Given the description of an element on the screen output the (x, y) to click on. 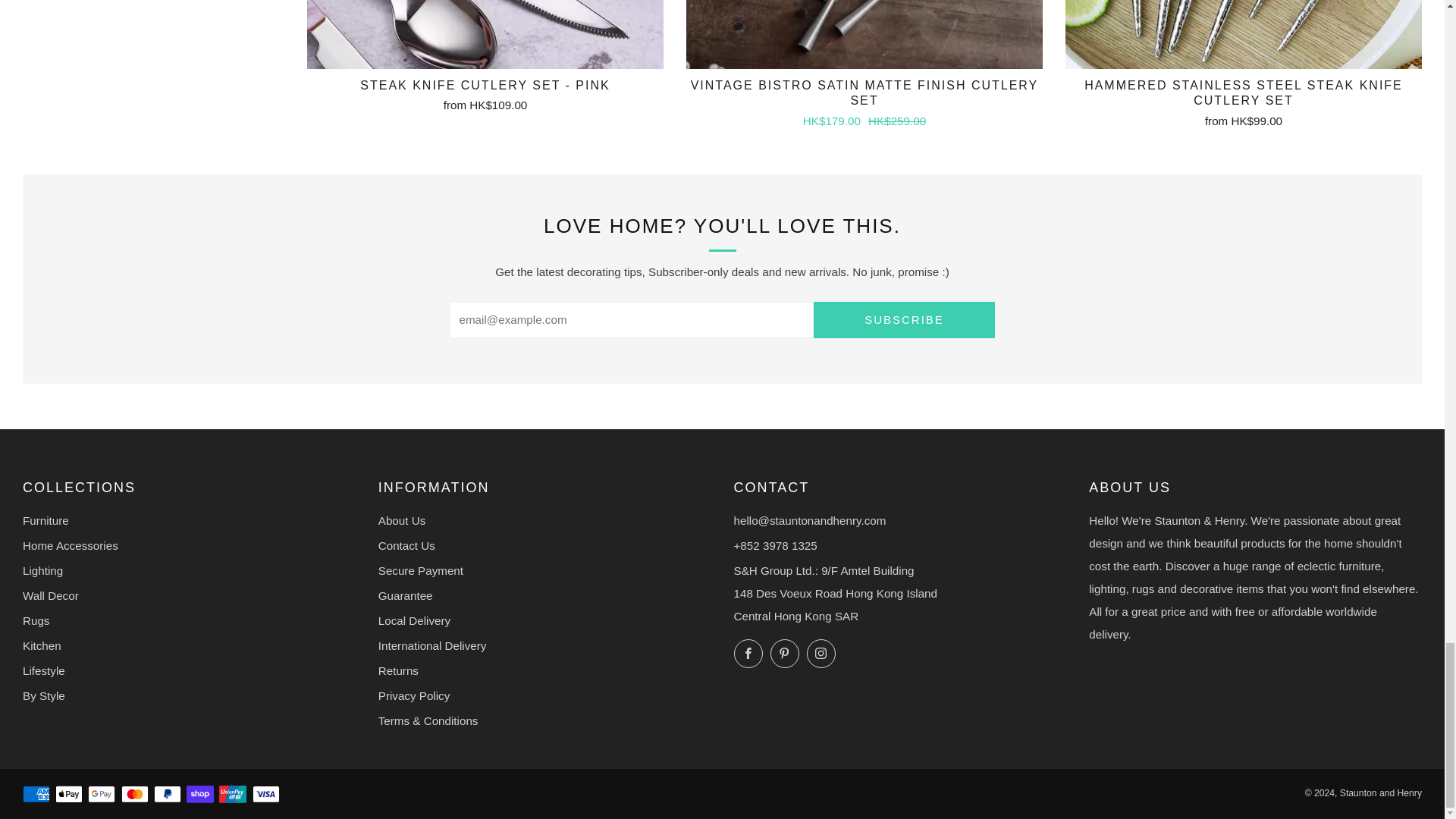
Mastercard (134, 794)
Apple Pay (68, 794)
Google Pay (101, 794)
Union Pay (232, 794)
Shop Pay (200, 794)
Visa (265, 794)
American Express (36, 794)
PayPal (167, 794)
